Given the description of an element on the screen output the (x, y) to click on. 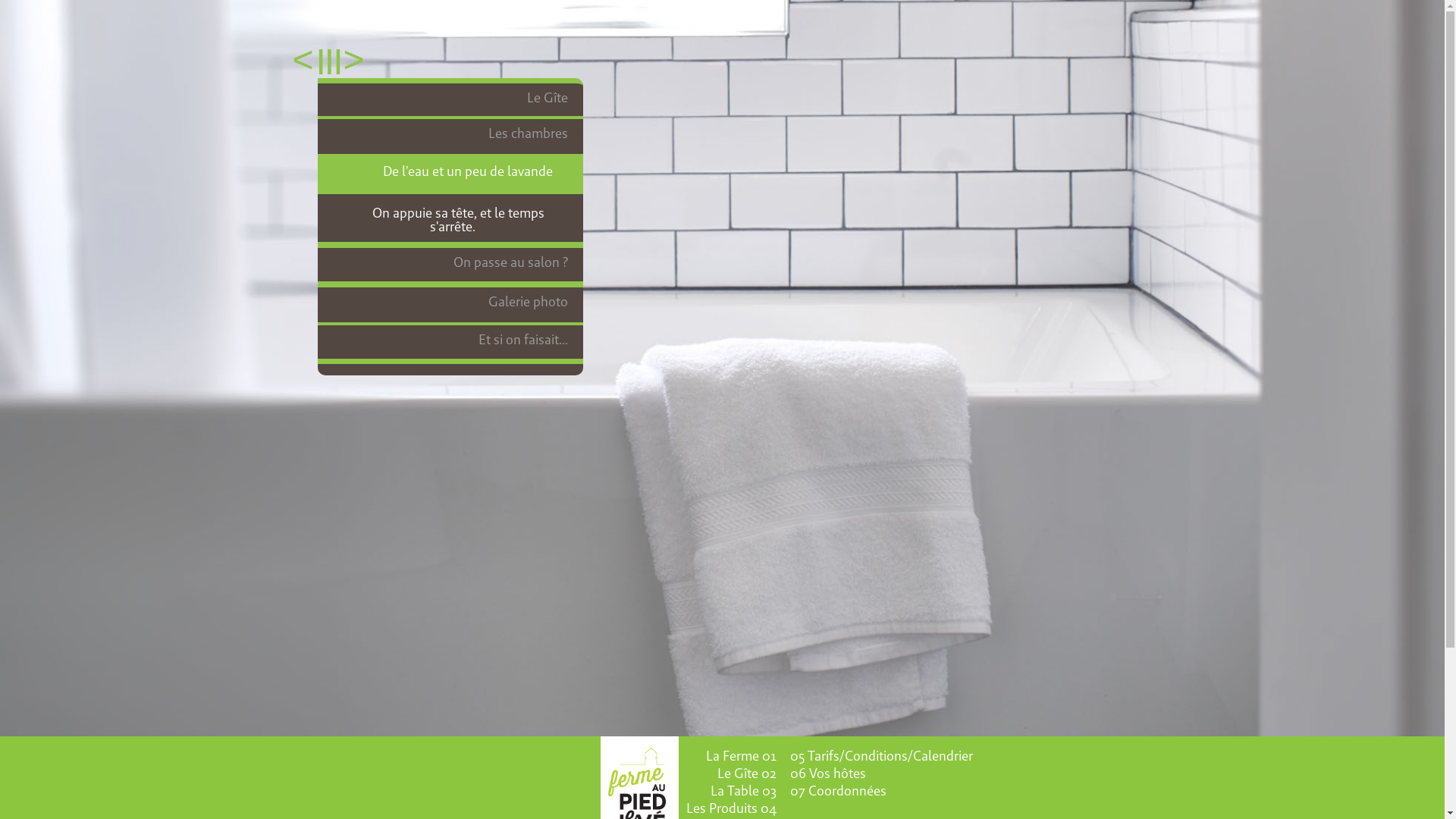
Les chambres Element type: text (449, 137)
On passe au salon ? Element type: text (449, 266)
< Element type: text (294, 59)
La Ferme 01 Element type: text (739, 755)
III Element type: text (335, 59)
Galerie photo Element type: text (449, 305)
05 Tarifs/Conditions/Calendrier Element type: text (908, 755)
Et si on faisait... Element type: text (449, 344)
> Element type: text (361, 59)
Les Produits 04 Element type: text (727, 808)
La Table 03 Element type: text (739, 790)
